Given the description of an element on the screen output the (x, y) to click on. 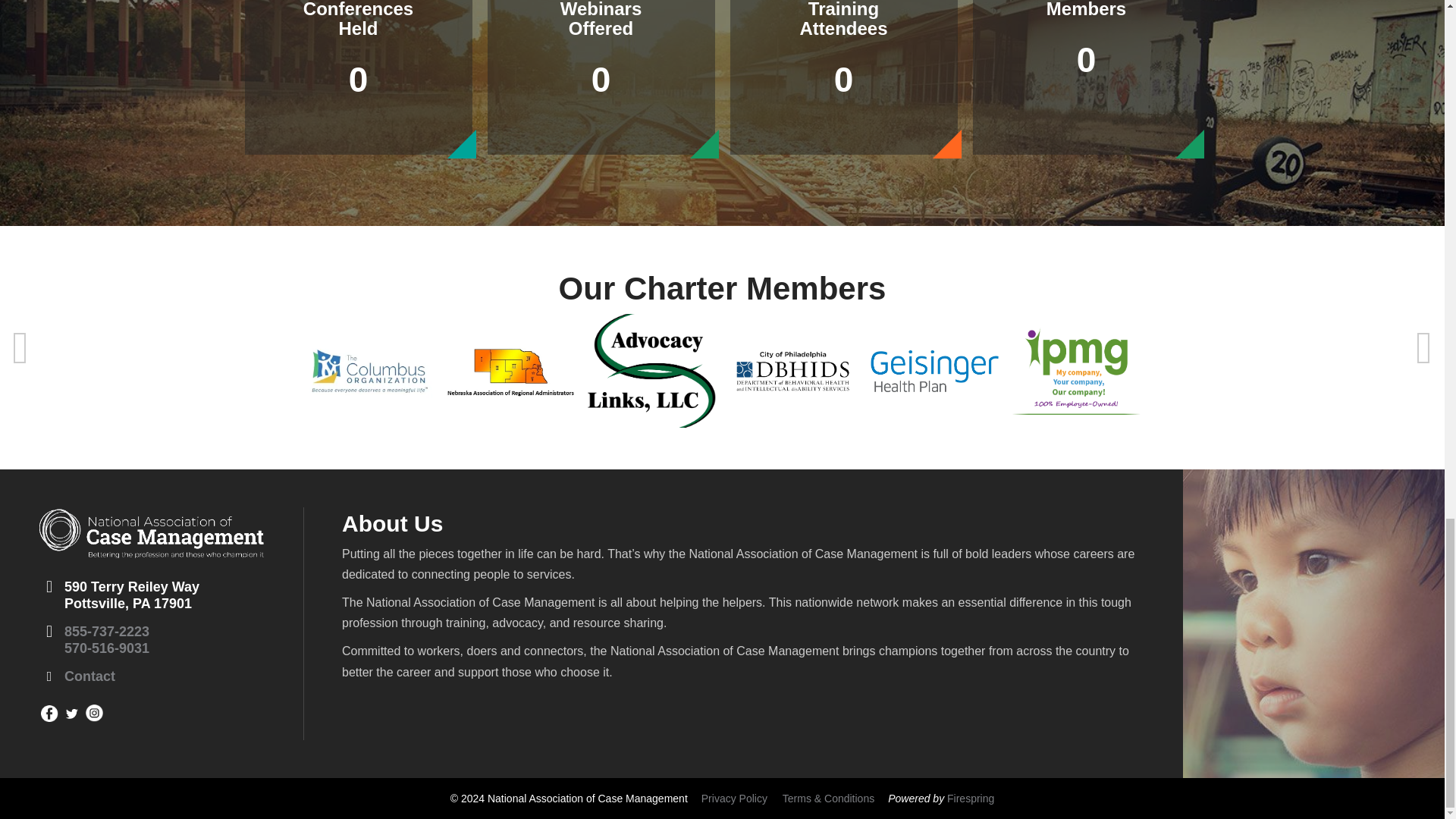
logo (150, 532)
